Given the description of an element on the screen output the (x, y) to click on. 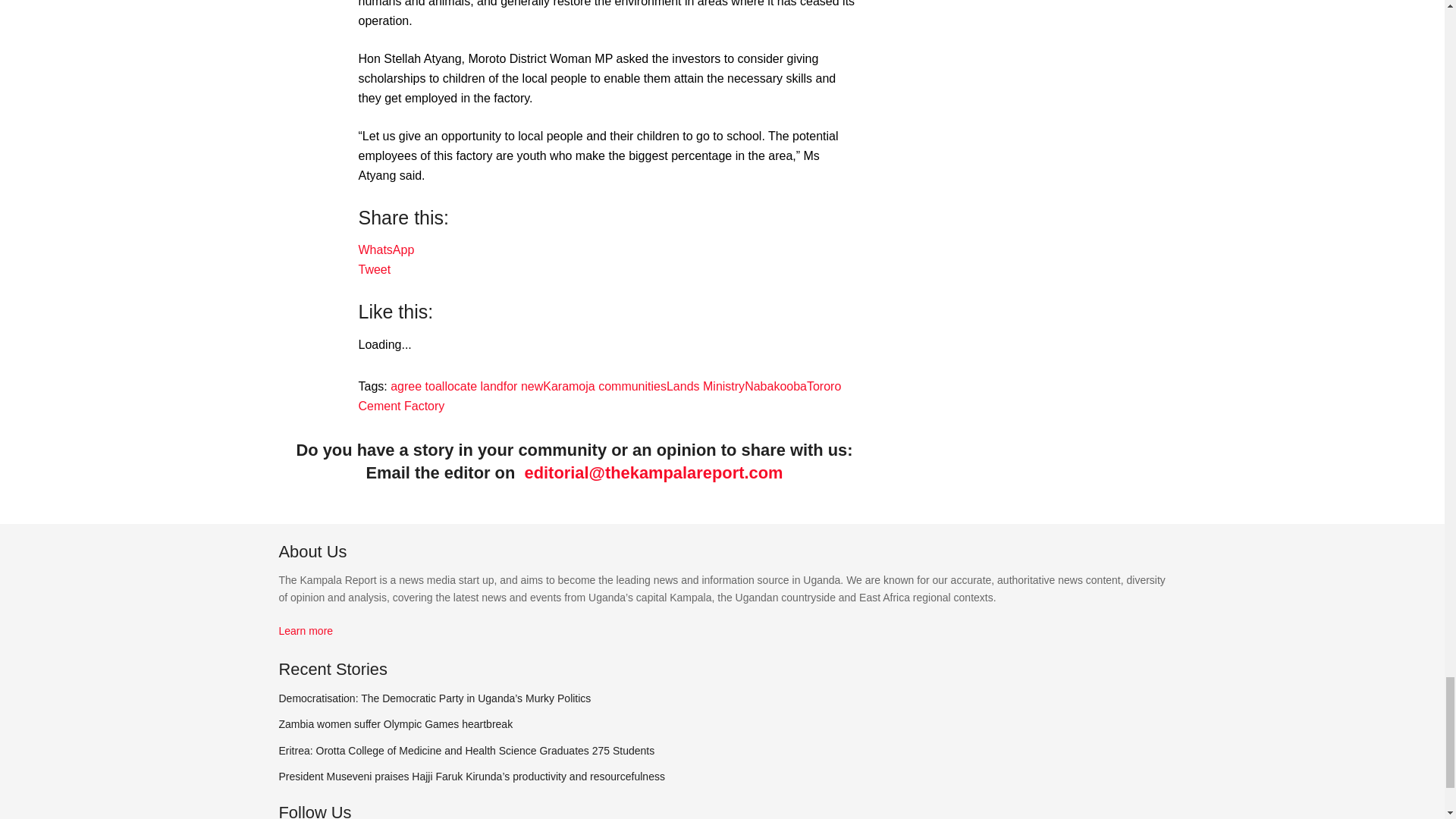
Click to share on WhatsApp (385, 249)
